Given the description of an element on the screen output the (x, y) to click on. 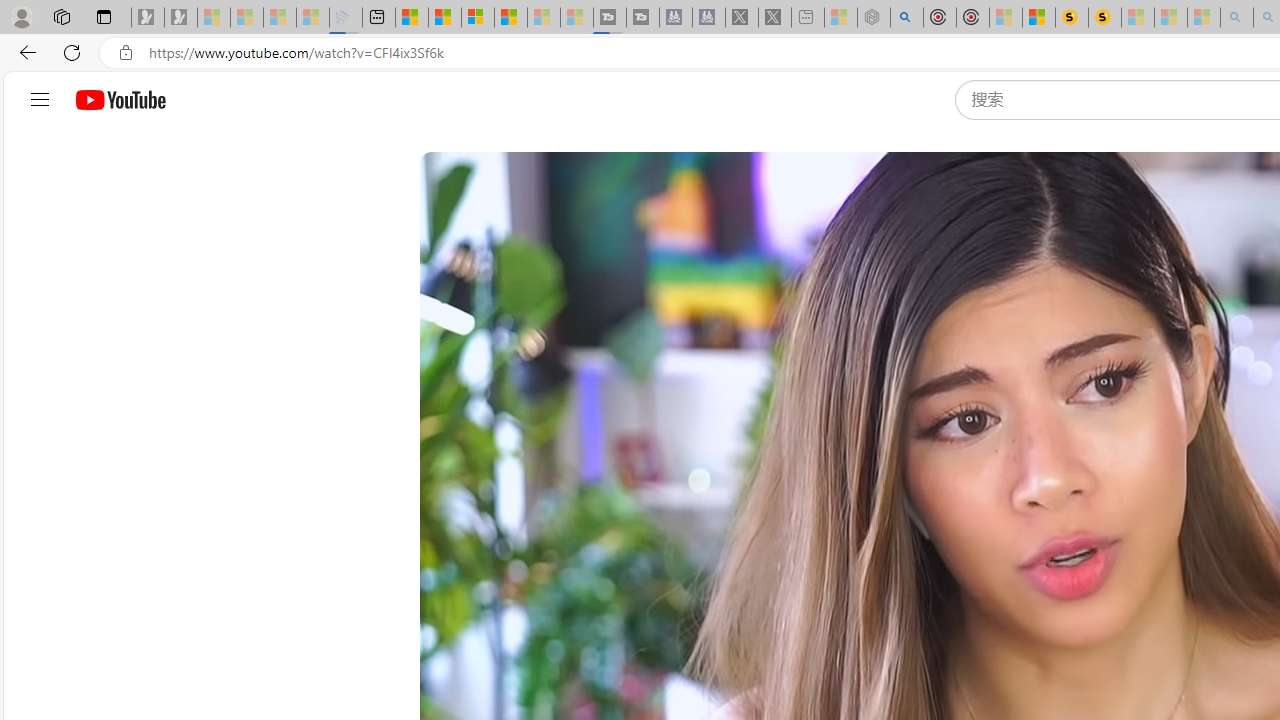
New tab - Sleeping (808, 17)
Workspaces (61, 16)
Wildlife - MSN - Sleeping (841, 17)
Personal Profile (21, 16)
X - Sleeping (775, 17)
Tab actions menu (104, 16)
